Given the description of an element on the screen output the (x, y) to click on. 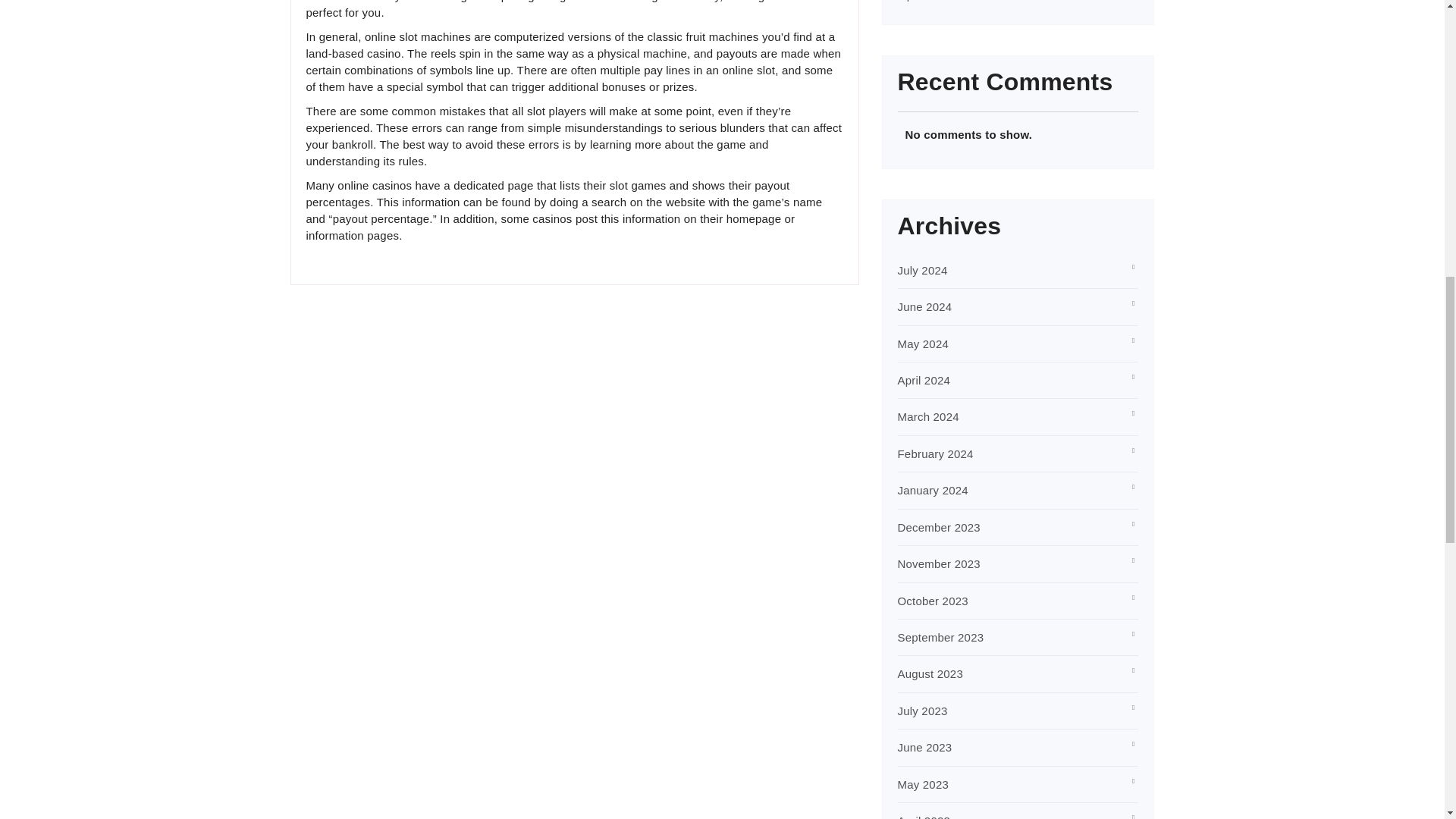
March 2024 (928, 416)
November 2023 (938, 563)
July 2023 (922, 710)
December 2023 (938, 526)
October 2023 (933, 600)
September 2023 (941, 636)
June 2024 (925, 306)
June 2023 (925, 747)
February 2024 (936, 453)
August 2023 (930, 673)
January 2024 (933, 490)
July 2024 (922, 269)
May 2024 (923, 343)
May 2023 (923, 784)
April 2024 (924, 379)
